Given the description of an element on the screen output the (x, y) to click on. 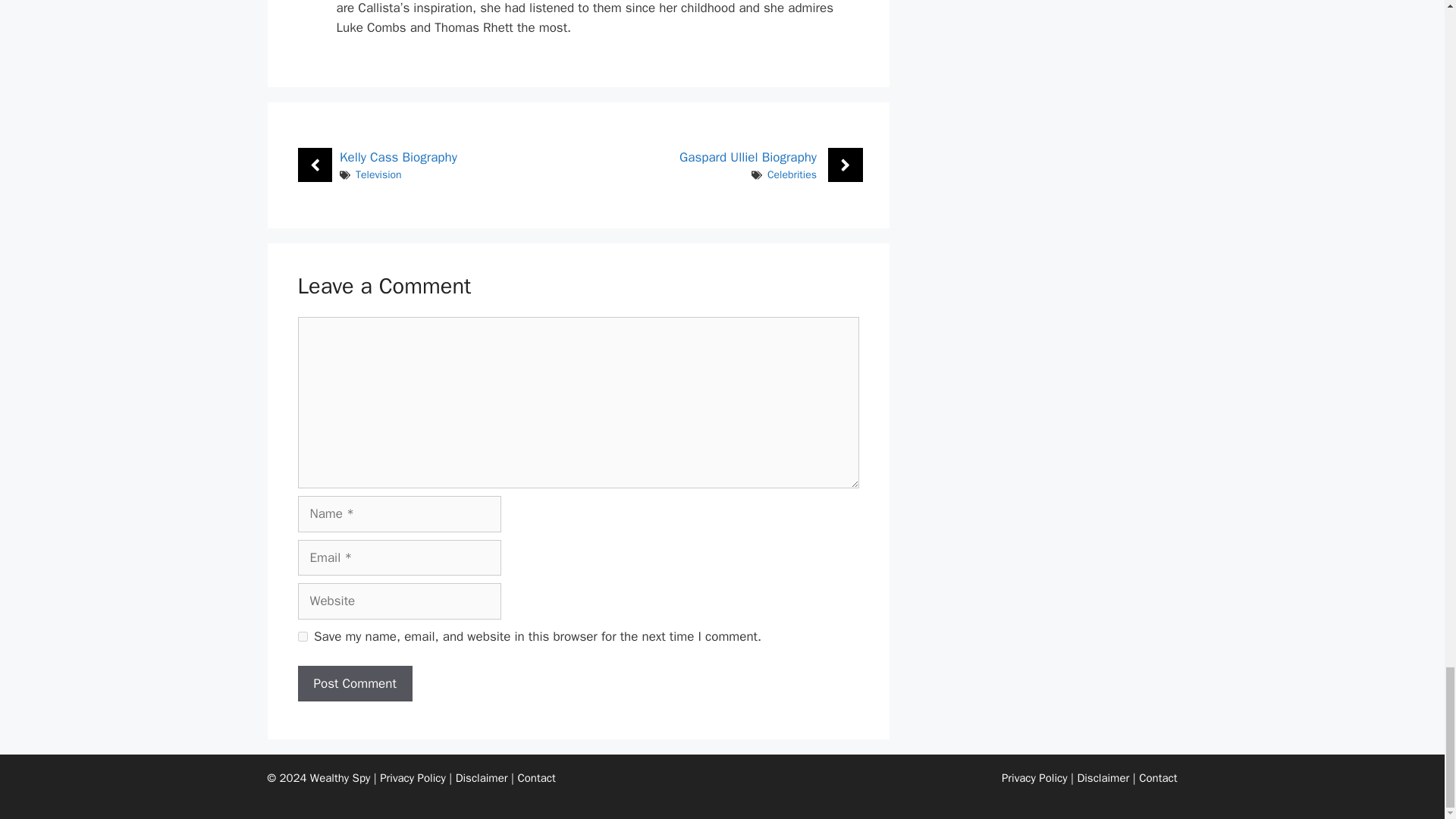
Celebrities (791, 174)
Kelly Cass Biography (398, 157)
yes (302, 636)
Post Comment (354, 683)
Television (378, 174)
Gaspard Ulliel Biography (747, 157)
Post Comment (354, 683)
